Given the description of an element on the screen output the (x, y) to click on. 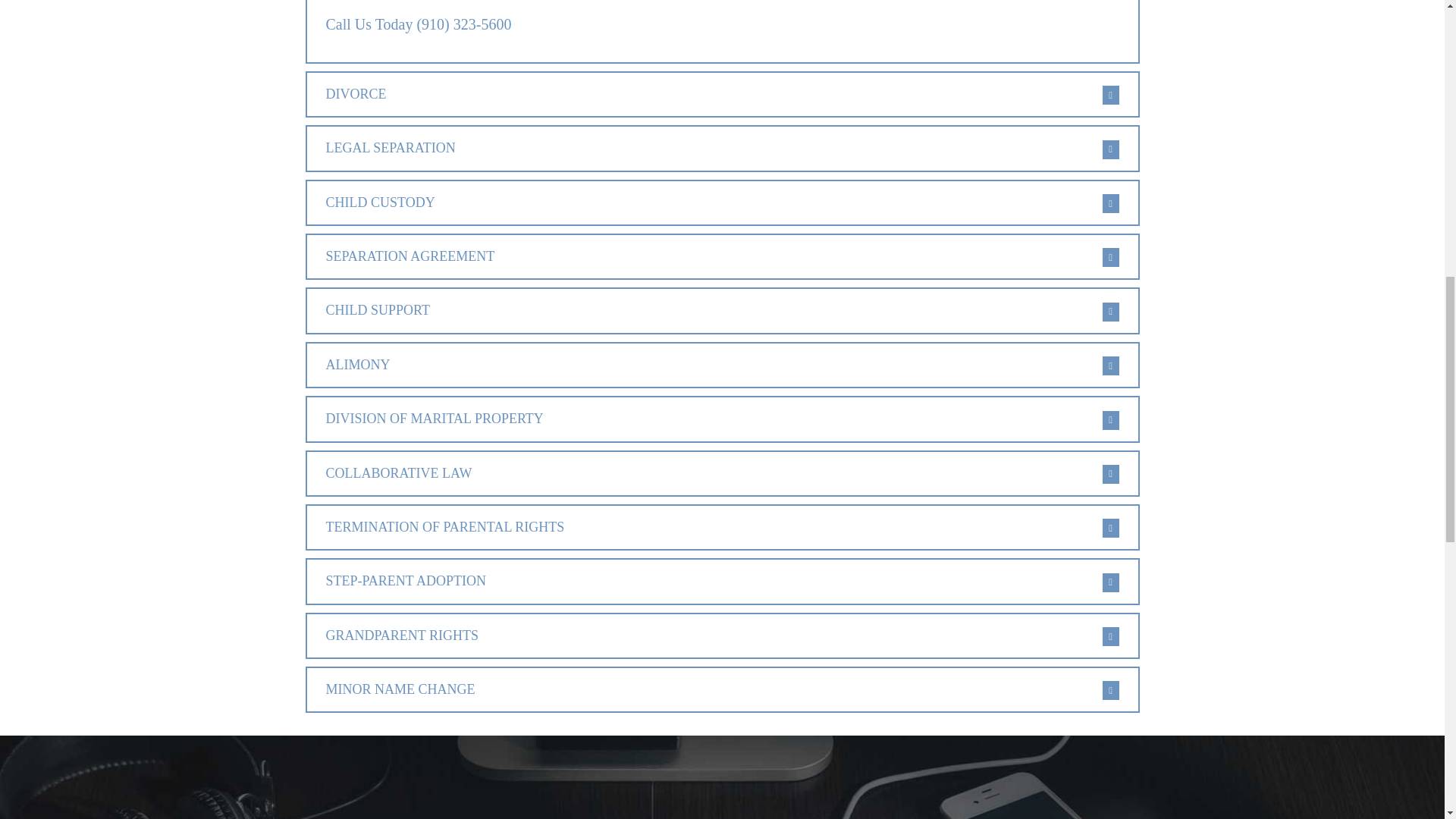
CHILD CUSTODY (721, 202)
LEGAL SEPARATION (721, 147)
DIVORCE (721, 94)
Call Us Today (369, 23)
